Given the description of an element on the screen output the (x, y) to click on. 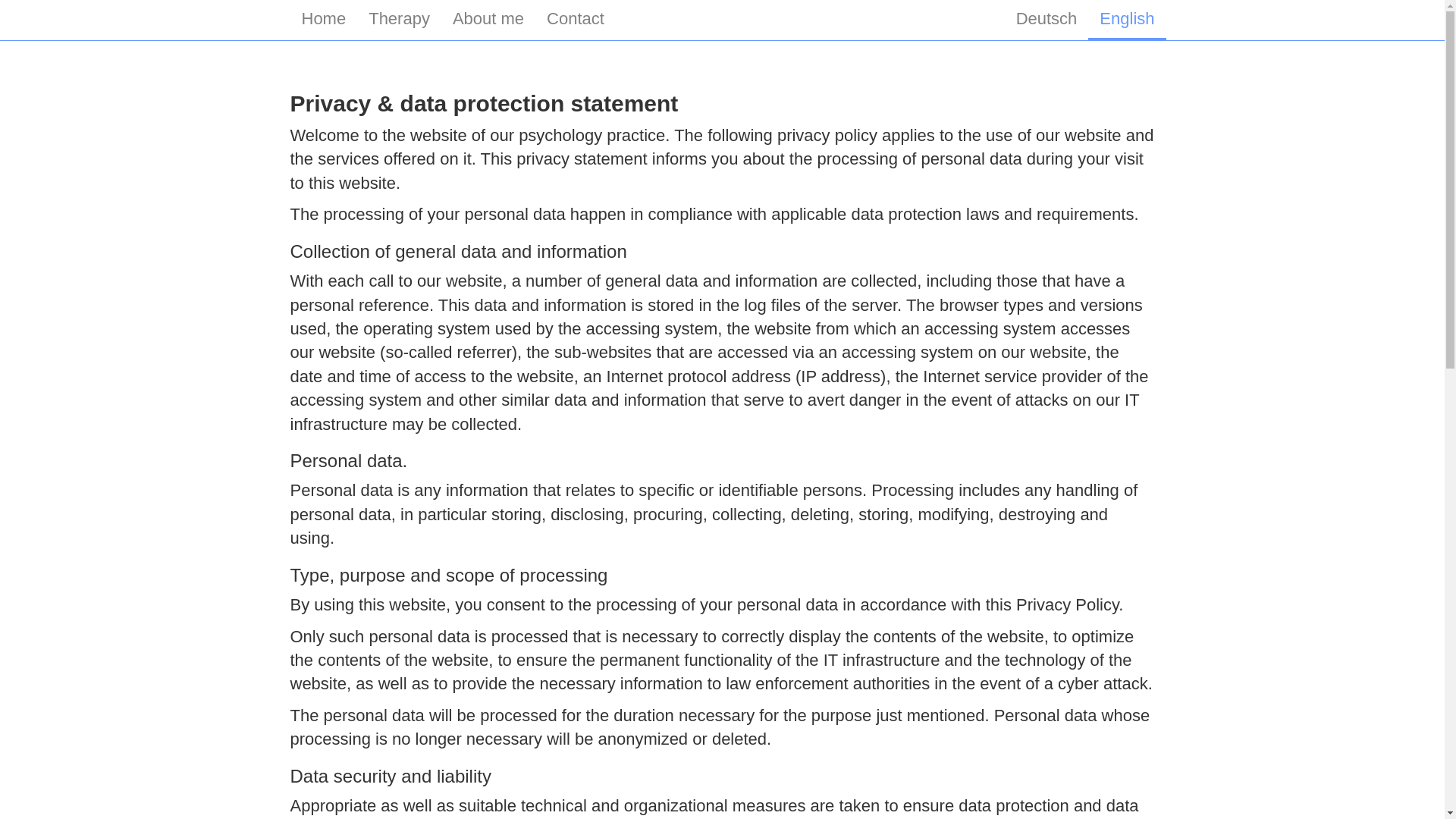
English (1126, 20)
Contact (575, 18)
Therapy (398, 18)
About me (488, 18)
Home (322, 18)
Deutsch (1046, 18)
